Given the description of an element on the screen output the (x, y) to click on. 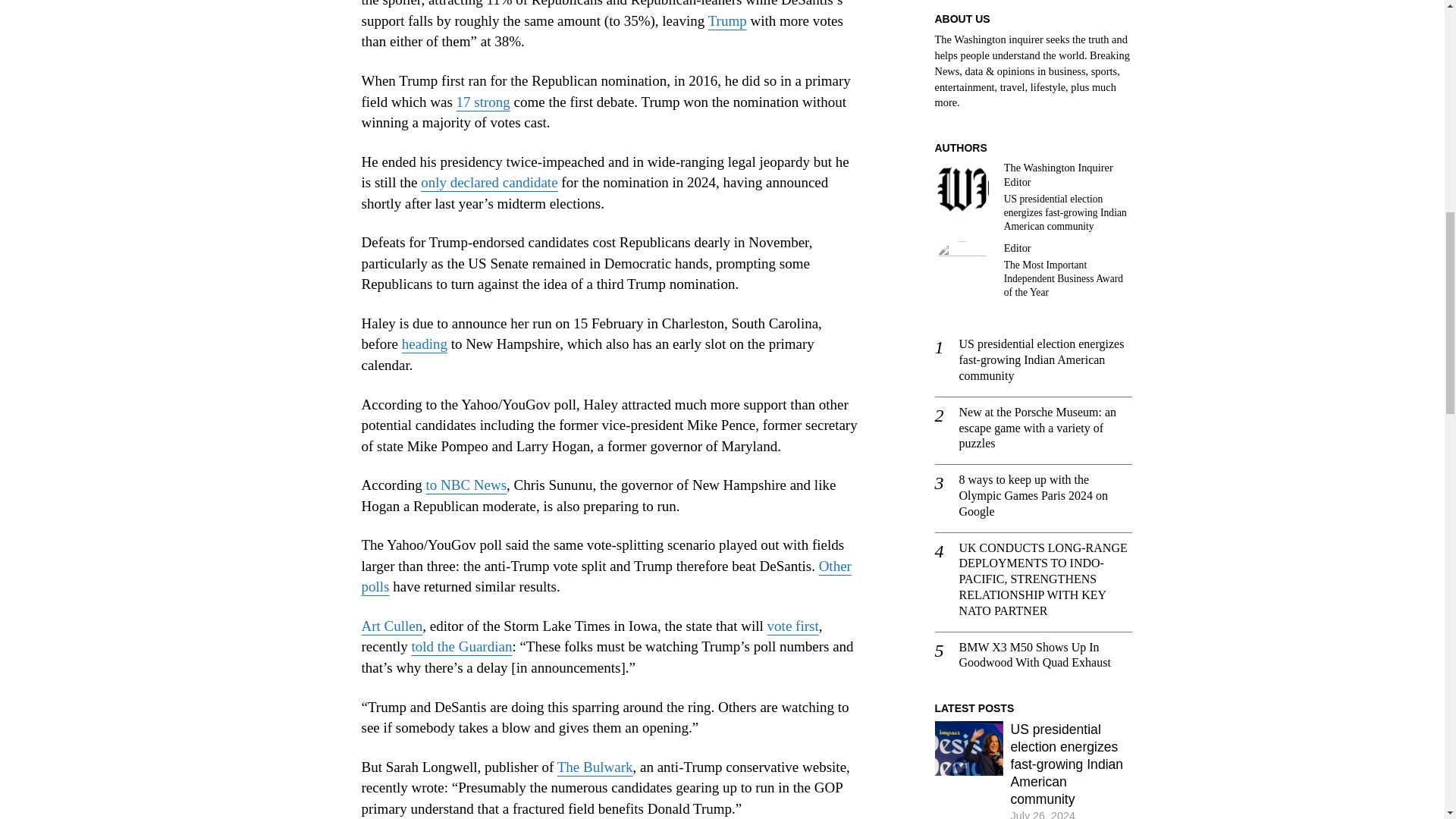
26 Jul, 2024 18:29:36 (1042, 813)
Editor (961, 267)
The Washington Inquirer Editor (961, 187)
